Given the description of an element on the screen output the (x, y) to click on. 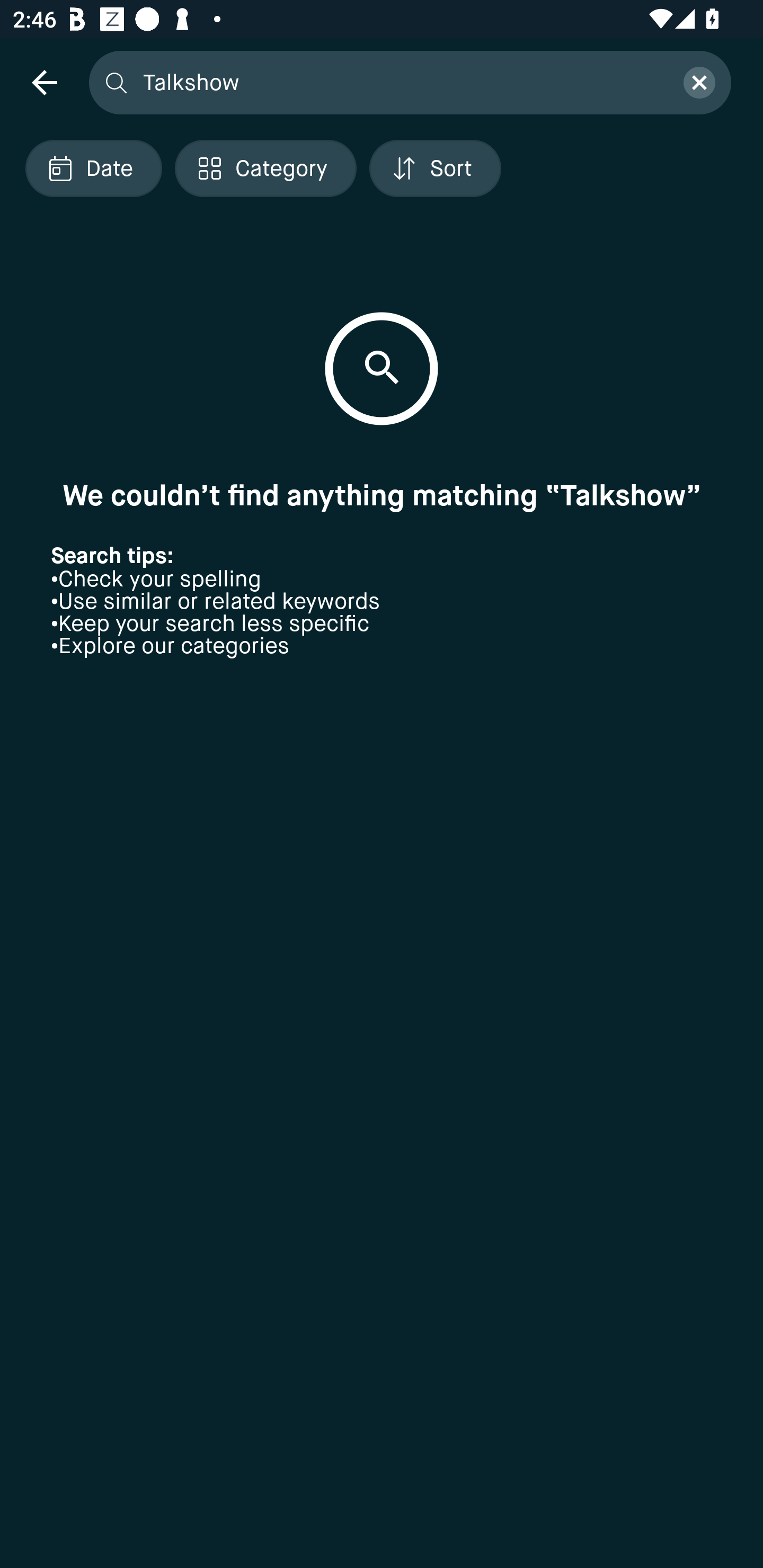
navigation icon (44, 81)
Talkshow (402, 81)
Localized description Date (93, 168)
Localized description Category (265, 168)
Localized description Sort (435, 168)
We couldn’t find anything matching “Talkshow” (381, 495)
